Given the description of an element on the screen output the (x, y) to click on. 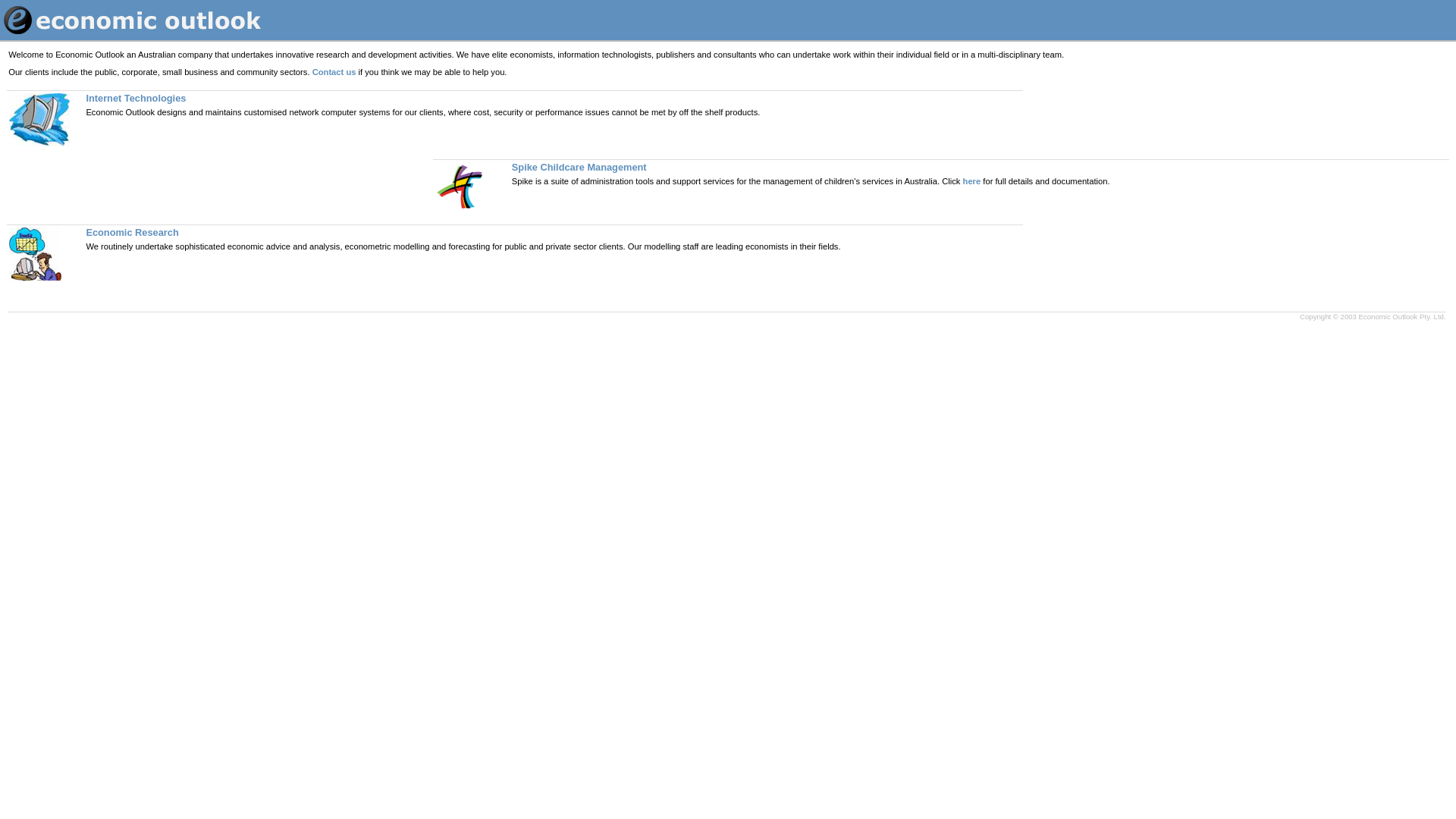
Spike Childcare Management Element type: text (578, 166)
Contact us Element type: text (334, 71)
Internet Technologies Element type: text (135, 97)
here Element type: text (972, 180)
Economic Research Element type: text (131, 231)
